Given the description of an element on the screen output the (x, y) to click on. 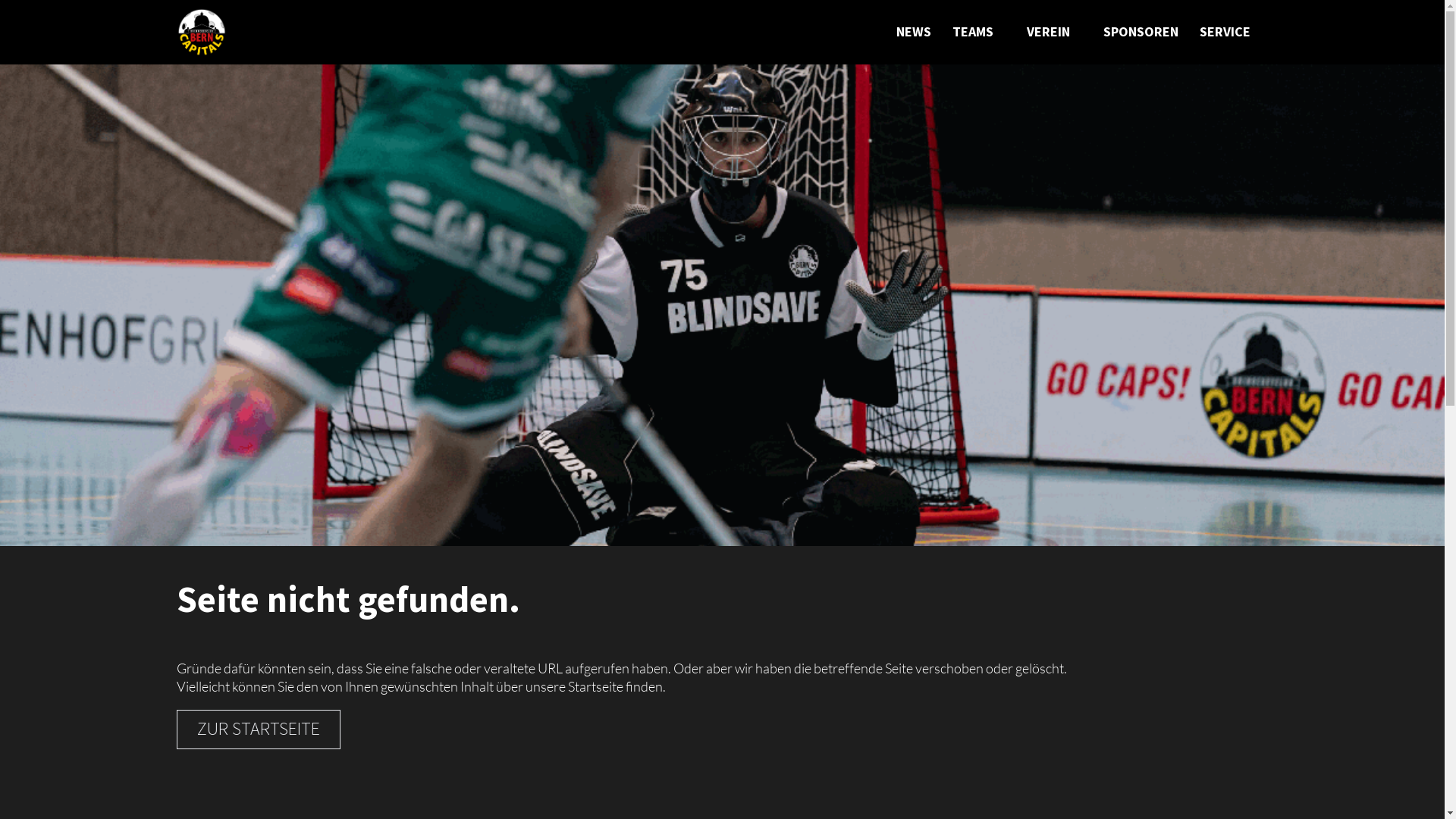
NEWS Element type: text (913, 31)
header_09_23 Element type: hover (722, 305)
SPONSOREN Element type: text (1139, 31)
SERVICE Element type: text (1224, 31)
Logo_Caps_Original Element type: hover (200, 32)
ZUR STARTSEITE Element type: text (257, 729)
TEAMS Element type: text (972, 31)
VEREIN Element type: text (1048, 31)
